Given the description of an element on the screen output the (x, y) to click on. 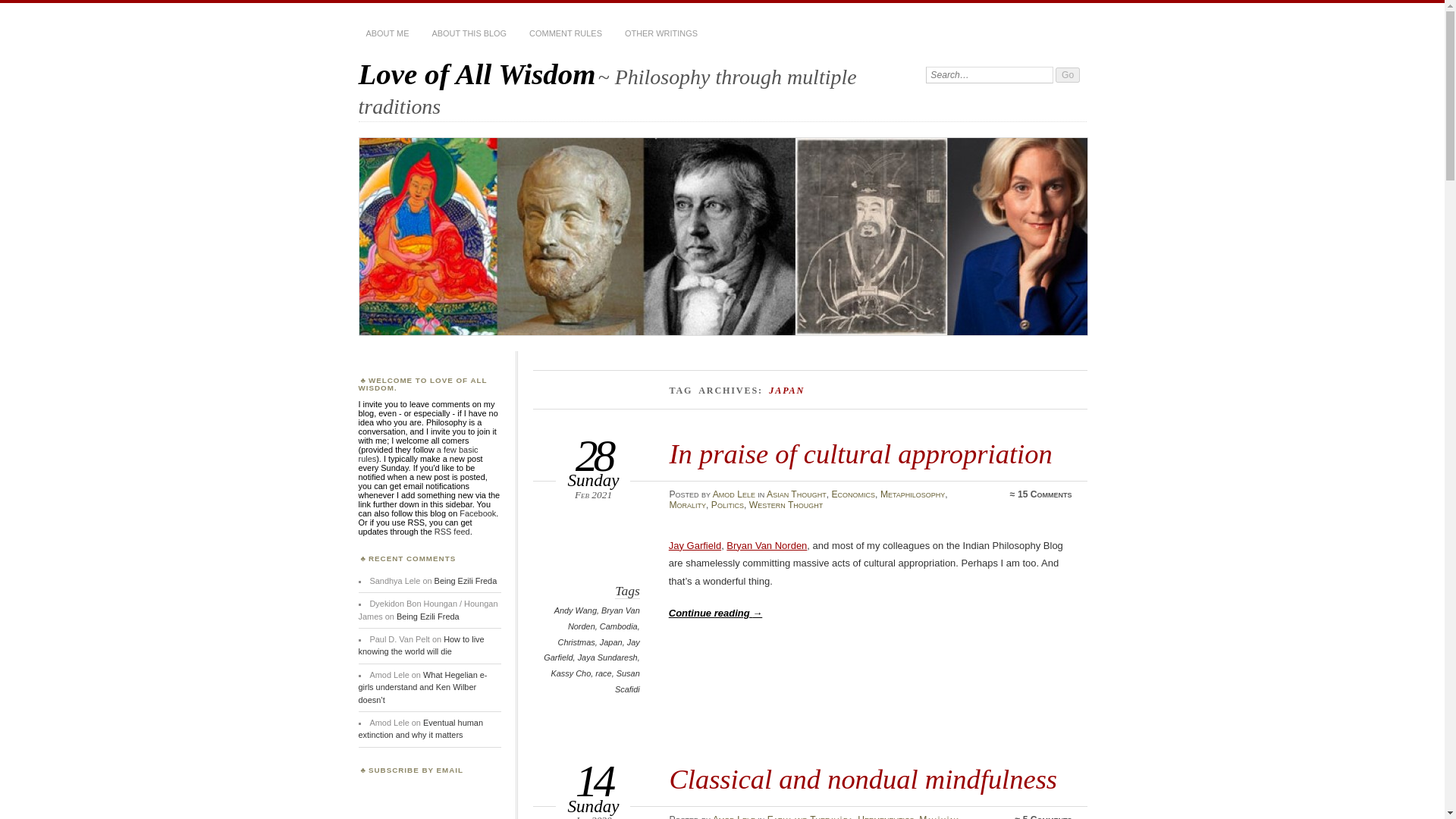
15 Comments (1044, 493)
Japan (611, 642)
Jay Garfield (591, 650)
Andy Wang (575, 610)
Asian Thought (797, 493)
Amod Lele (734, 493)
Go (1067, 74)
Economics (853, 493)
Susan Scafidi (627, 681)
